Given the description of an element on the screen output the (x, y) to click on. 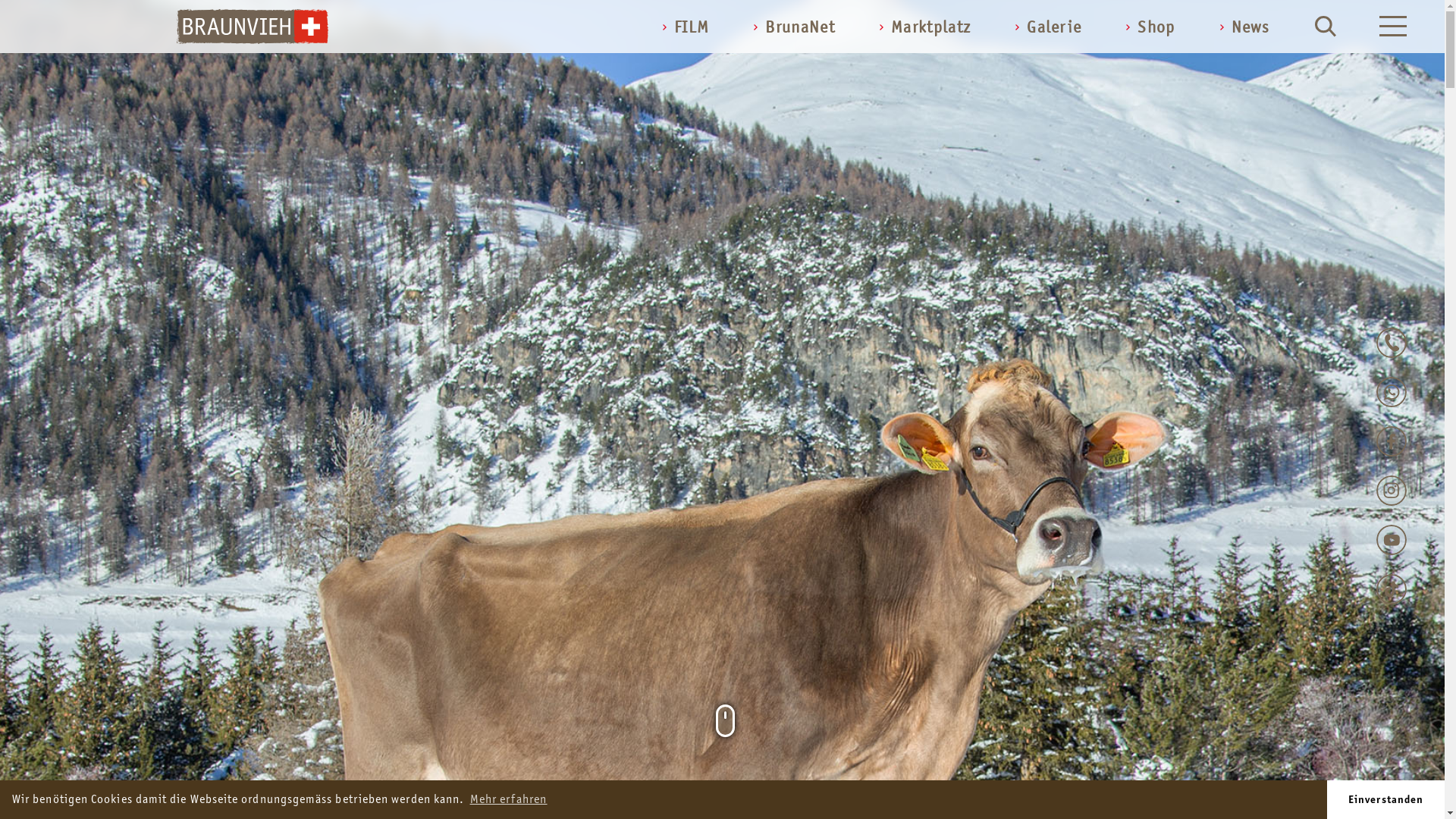
News Element type: text (1244, 26)
Marktplatz Element type: text (924, 26)
Mehr erfahren Element type: text (508, 798)
Shop Element type: text (1150, 26)
FILM Element type: text (685, 26)
BrunaNet Element type: text (793, 26)
Galerie Element type: text (1048, 26)
